Given the description of an element on the screen output the (x, y) to click on. 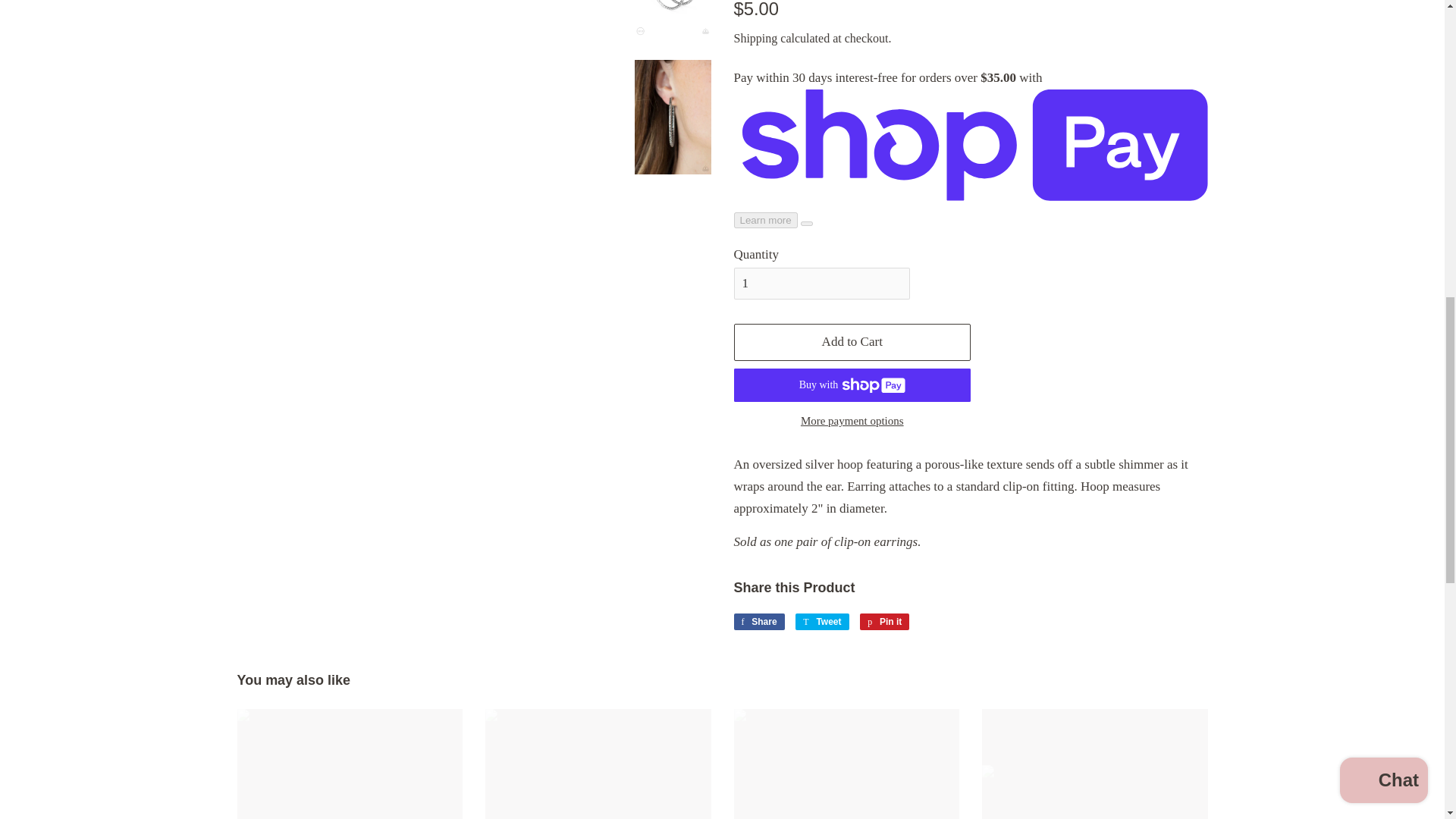
Share on Facebook (758, 621)
Tweet on Twitter (821, 621)
Pin on Pinterest (884, 621)
1 (821, 283)
